Given the description of an element on the screen output the (x, y) to click on. 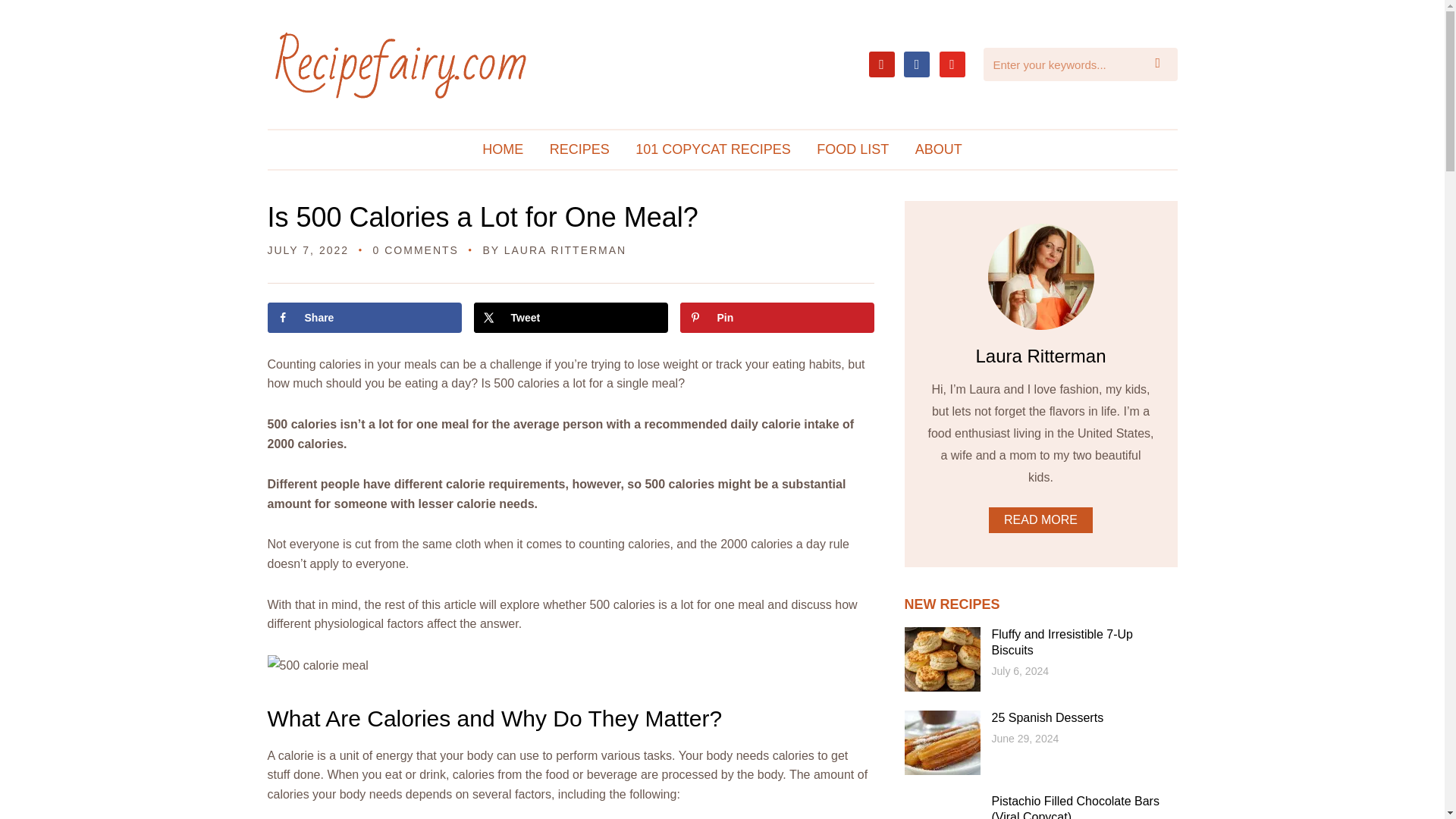
Facebook (917, 62)
HOME (502, 149)
Share on X (569, 317)
youtube (951, 62)
Search (1161, 64)
Save to Pinterest (776, 317)
Posts by Laura Ritterman (564, 250)
Search (1161, 64)
FOOD LIST (852, 149)
facebook (917, 62)
